Given the description of an element on the screen output the (x, y) to click on. 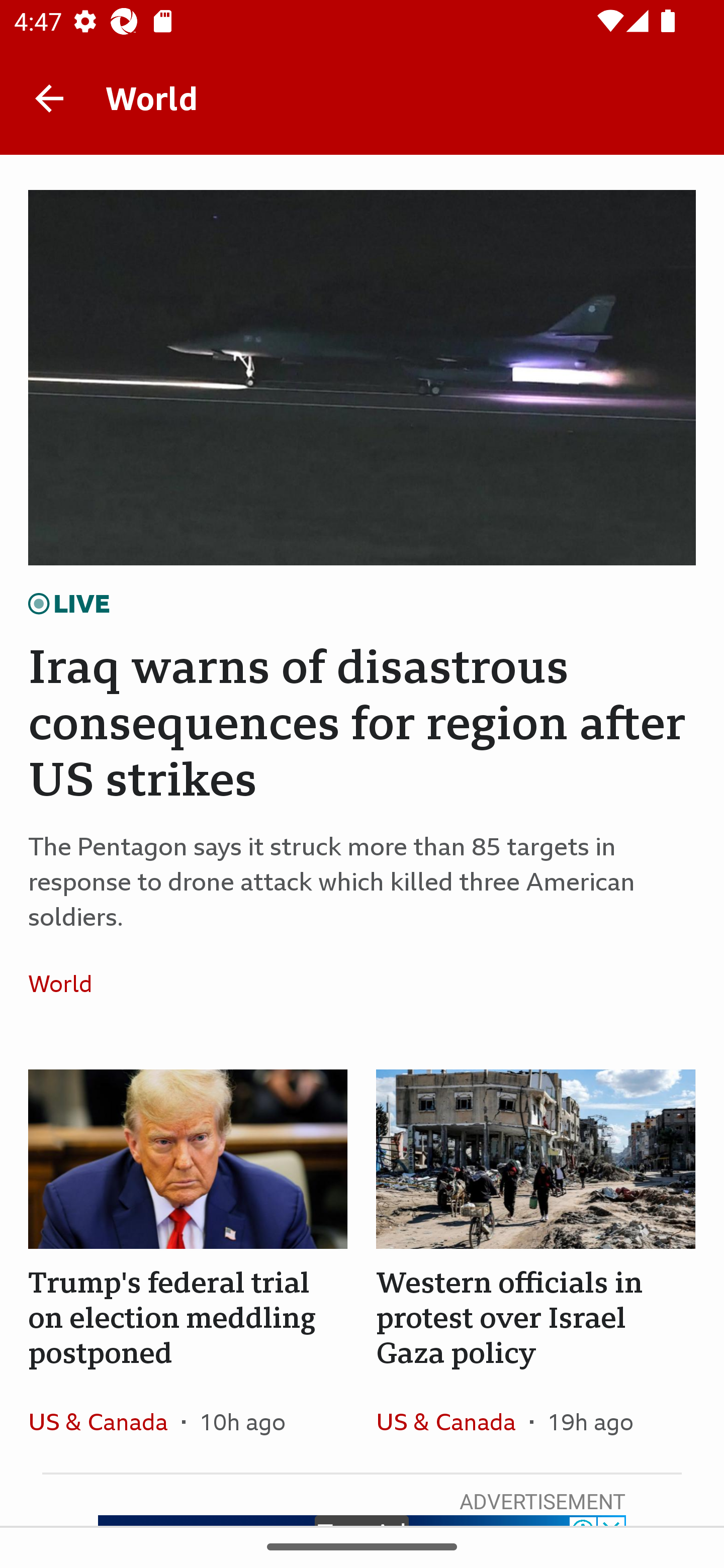
Back (49, 97)
World In the section World (67, 983)
US & Canada In the section US & Canada (104, 1421)
US & Canada In the section US & Canada (452, 1421)
